Given the description of an element on the screen output the (x, y) to click on. 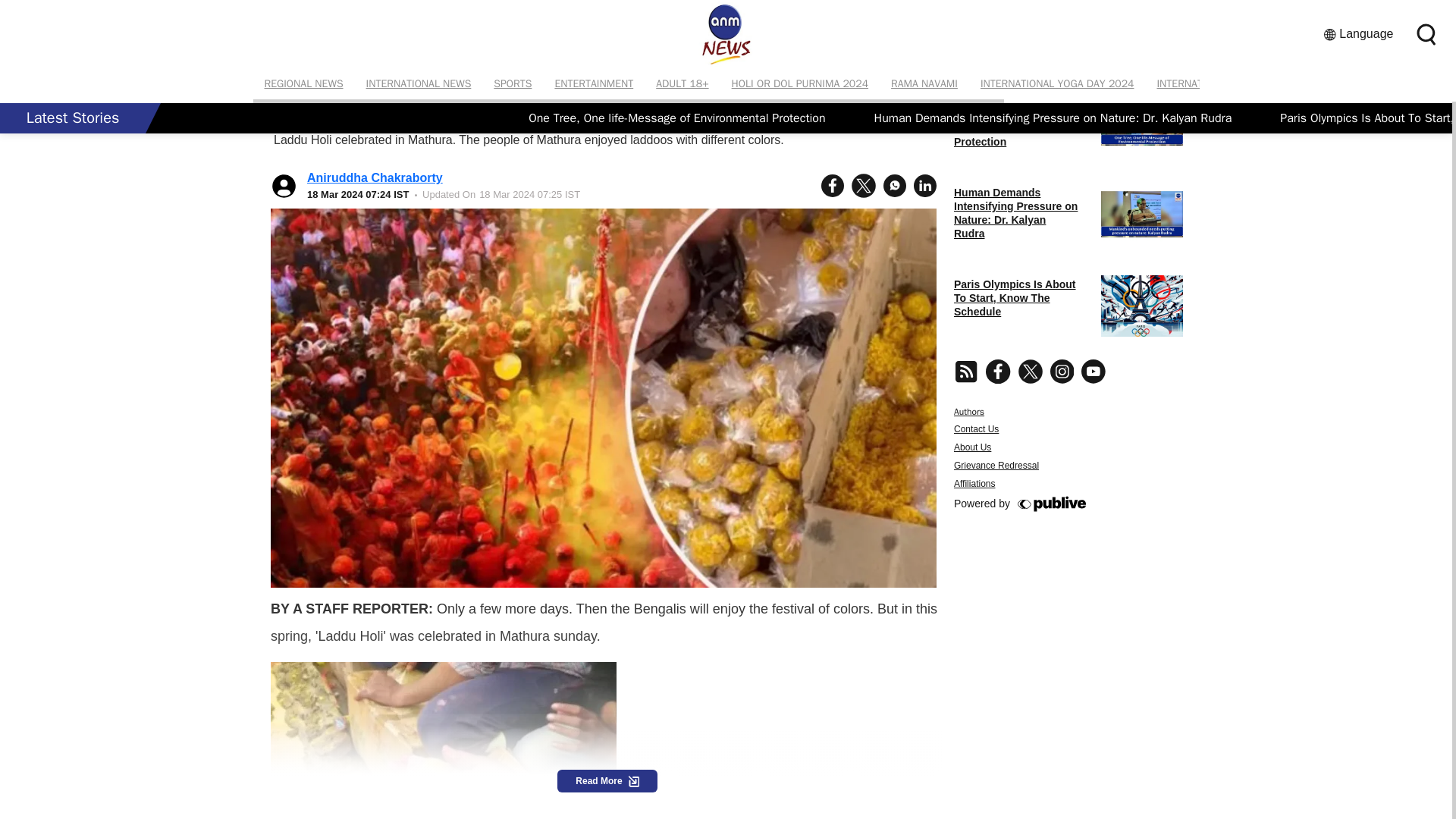
General (473, 51)
Dol Purnima (424, 803)
laddu holi (592, 803)
Holi or Dol Purnima 2024 (351, 51)
india (296, 803)
Read More (606, 780)
holi (351, 803)
Aniruddha Chakraborty (374, 177)
mathura (512, 803)
